Given the description of an element on the screen output the (x, y) to click on. 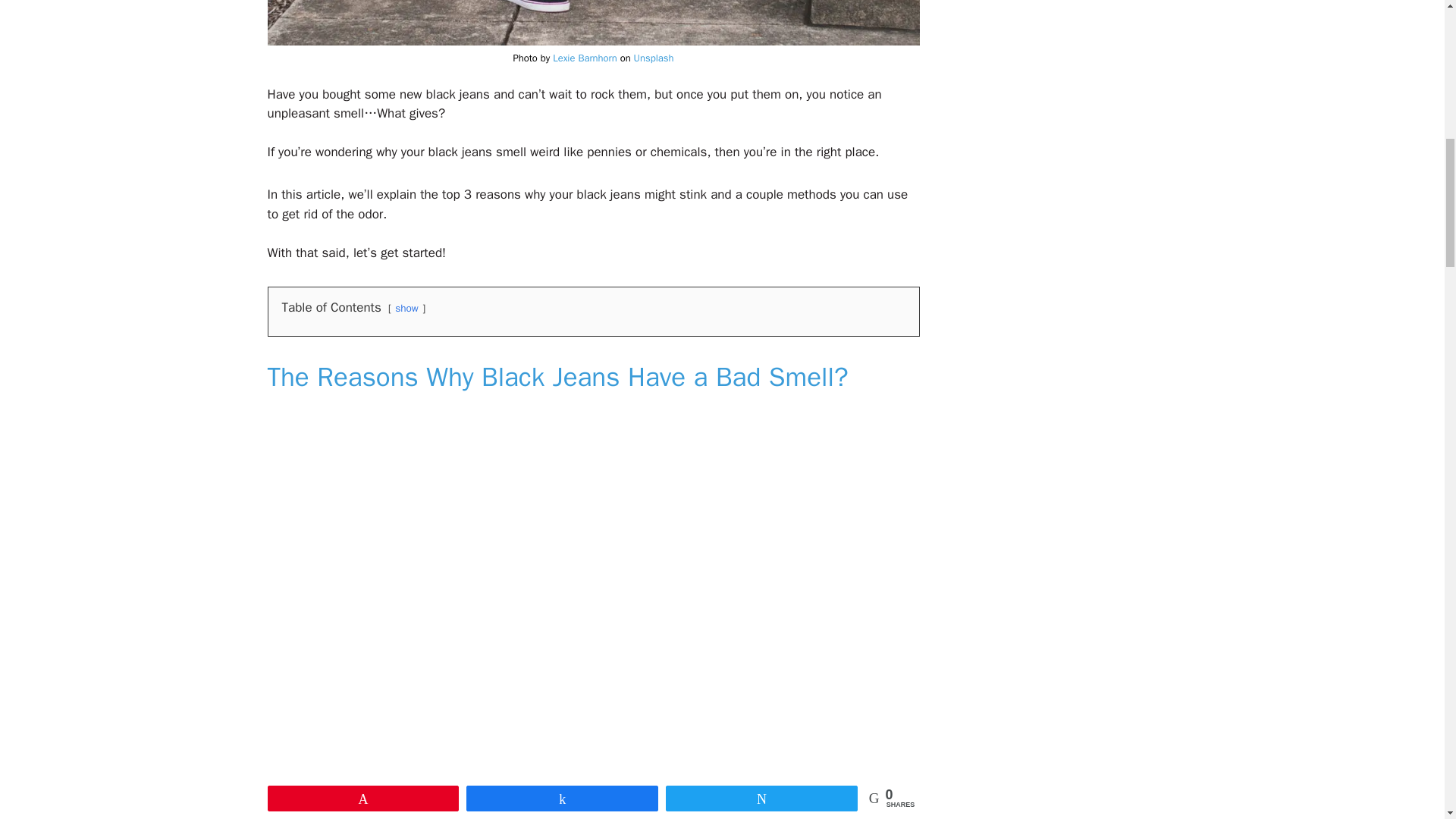
Advertisement (1085, 56)
